Given the description of an element on the screen output the (x, y) to click on. 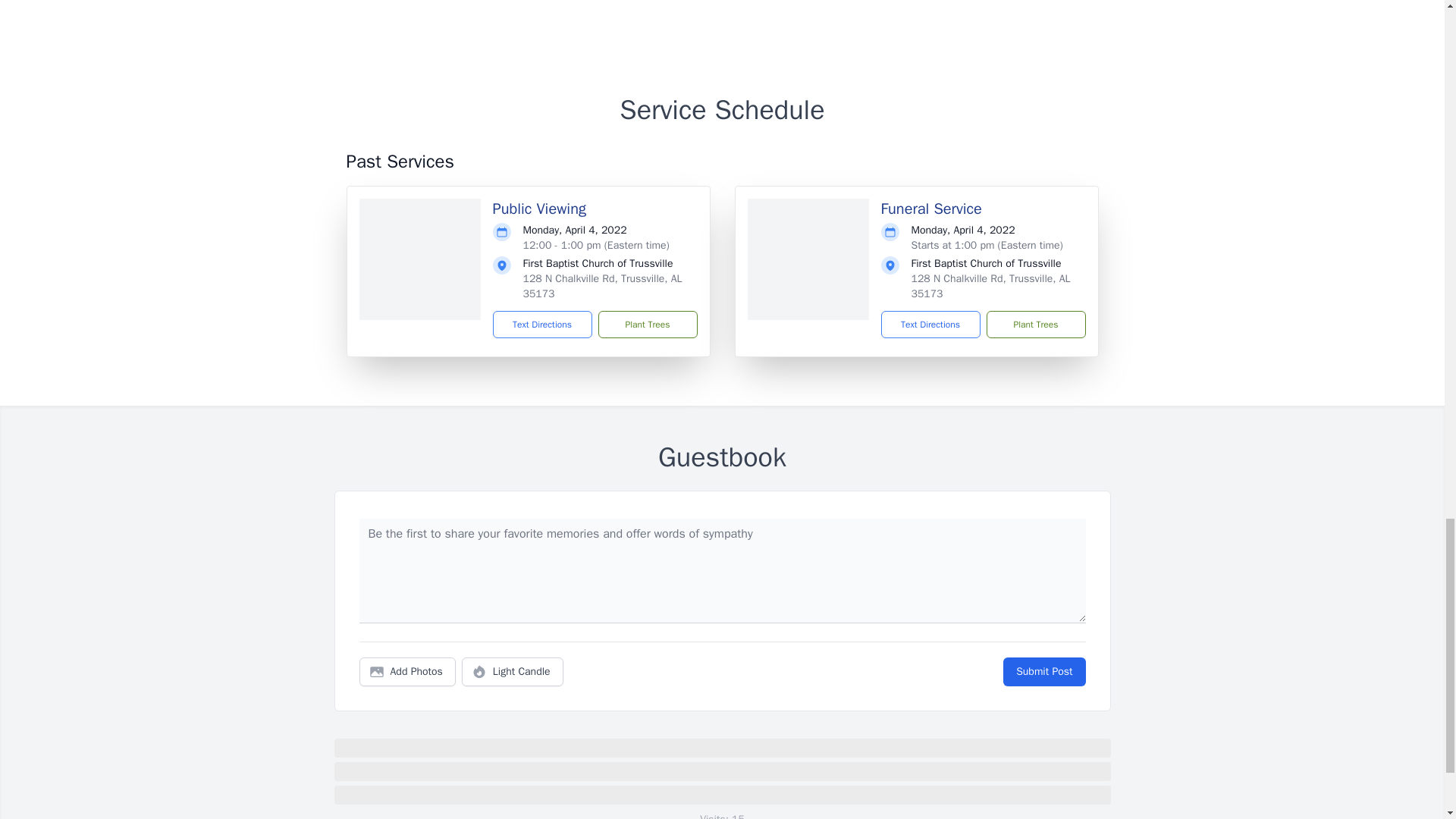
Light Candle (512, 671)
Text Directions (542, 324)
Plant Trees (1034, 324)
Submit Post (1043, 671)
Text Directions (929, 324)
Plant Trees (646, 324)
Add Photos (407, 671)
128 N Chalkville Rd, Trussville, AL 35173 (990, 285)
128 N Chalkville Rd, Trussville, AL 35173 (602, 285)
